Given the description of an element on the screen output the (x, y) to click on. 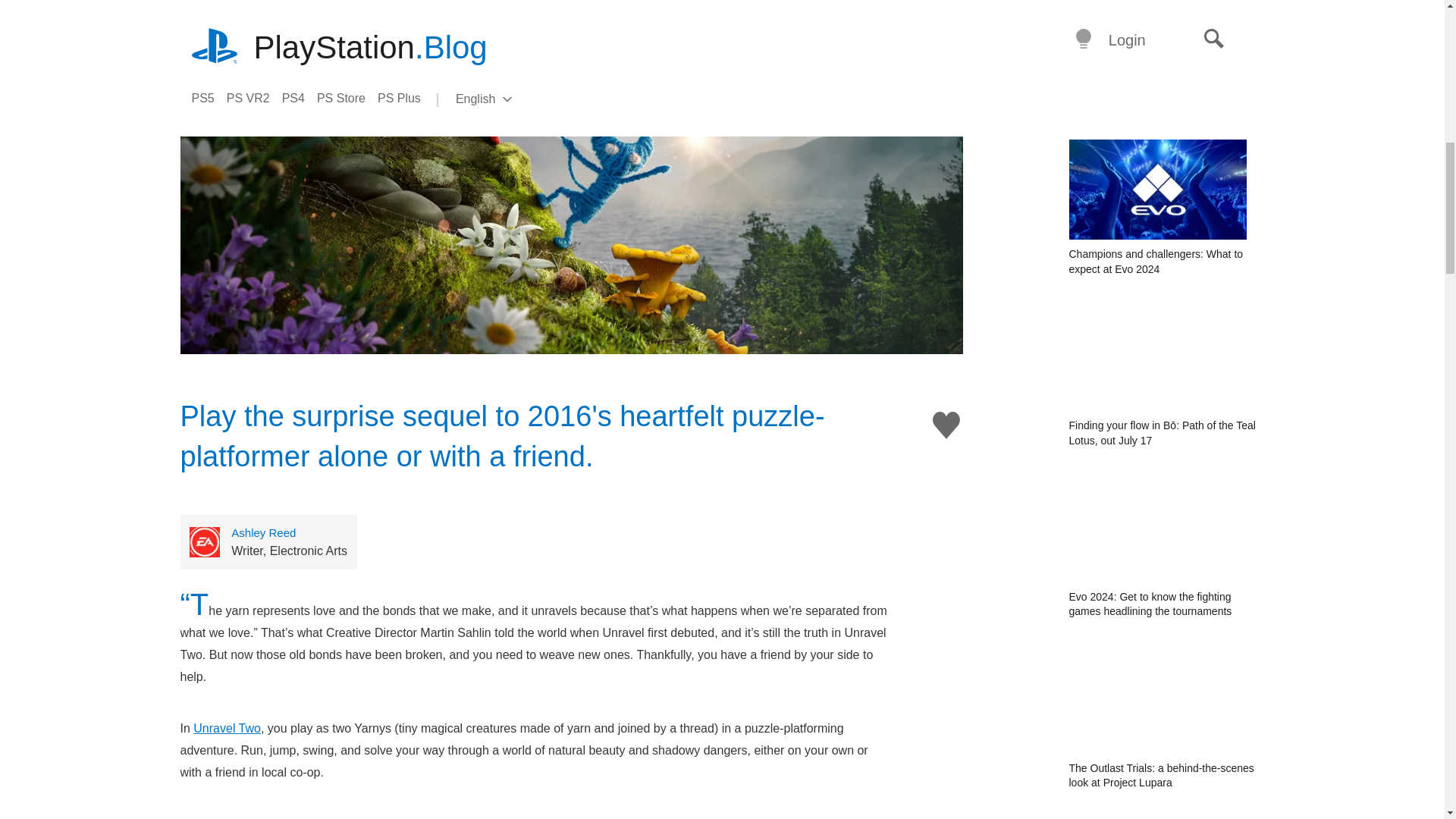
Like this (946, 424)
